Given the description of an element on the screen output the (x, y) to click on. 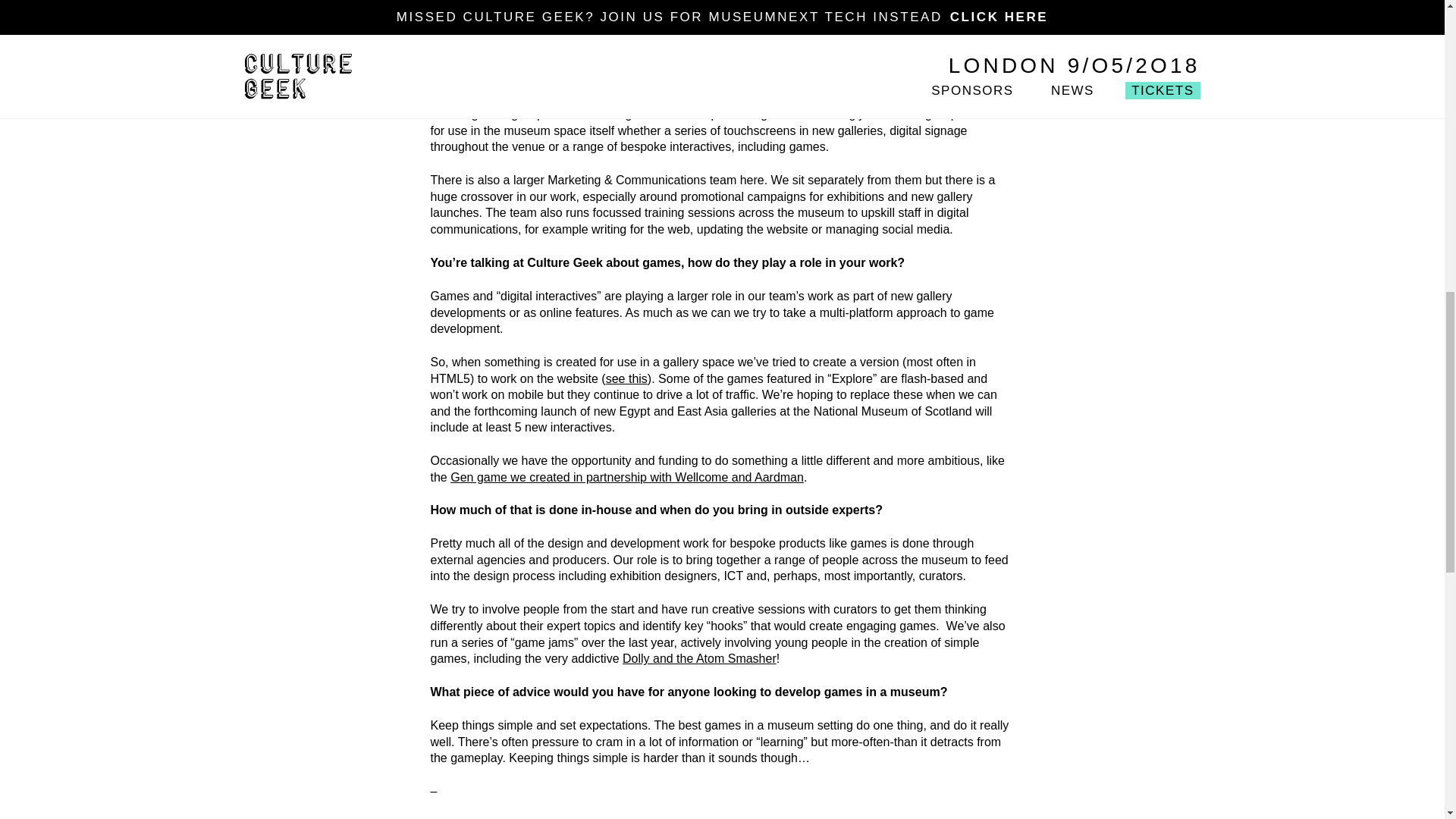
see this (626, 378)
Gen game we created in partnership with Wellcome and Aardman (626, 477)
Dolly and the Atom Smasher (699, 658)
